Given the description of an element on the screen output the (x, y) to click on. 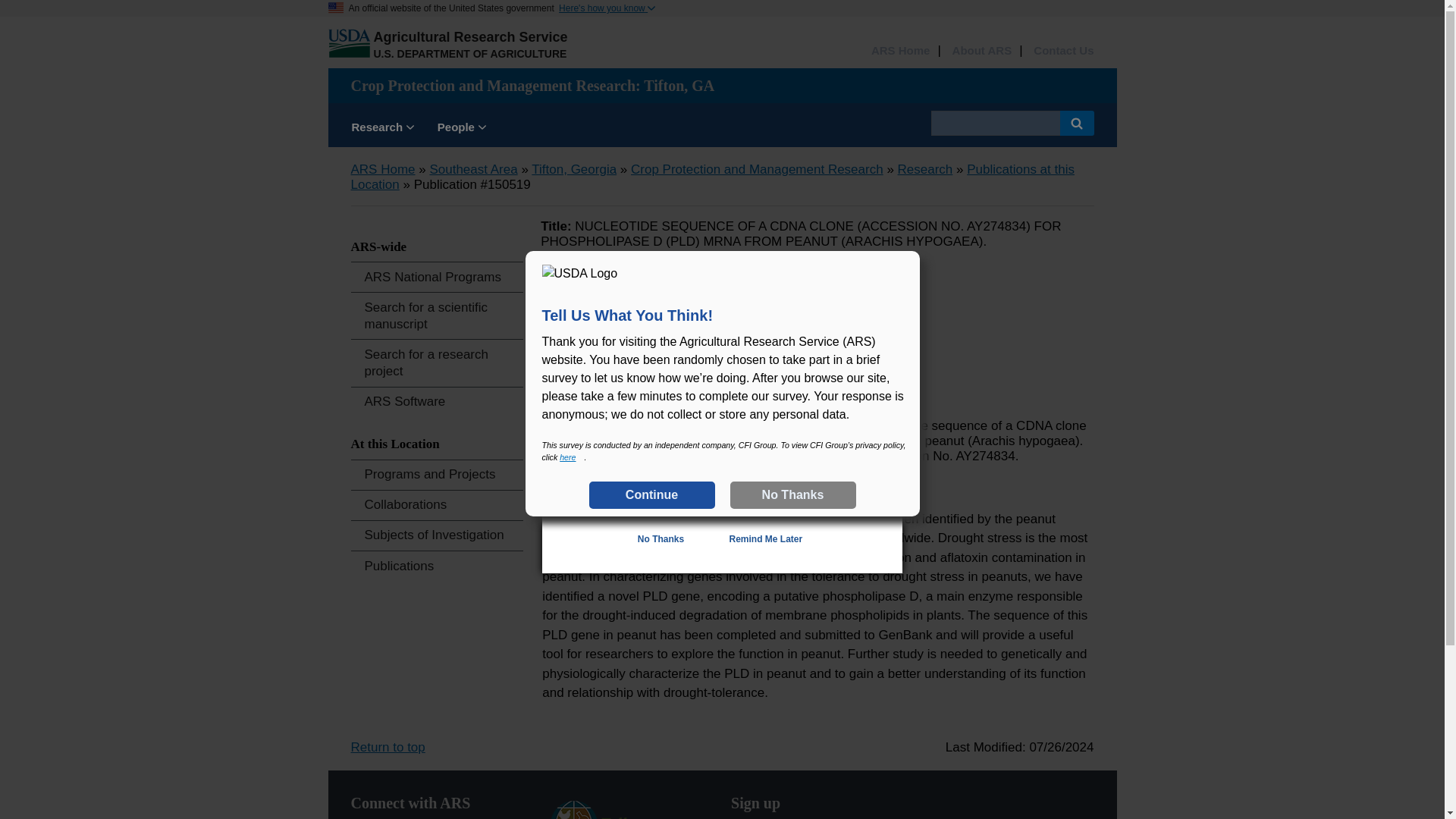
Collaborations (436, 505)
Search for a research project (436, 362)
Research (382, 128)
About ARS (981, 50)
Close subscription dialog (877, 328)
ARS Home (900, 50)
ARS Home (900, 50)
Guo, Baozhu (594, 288)
Tifton, Georgia (573, 169)
Agricultural Research Service Home (469, 37)
People (461, 128)
Email Address (659, 495)
Holbrook, Carl - Corley (622, 309)
Research (925, 169)
Southeast Area (472, 169)
